Given the description of an element on the screen output the (x, y) to click on. 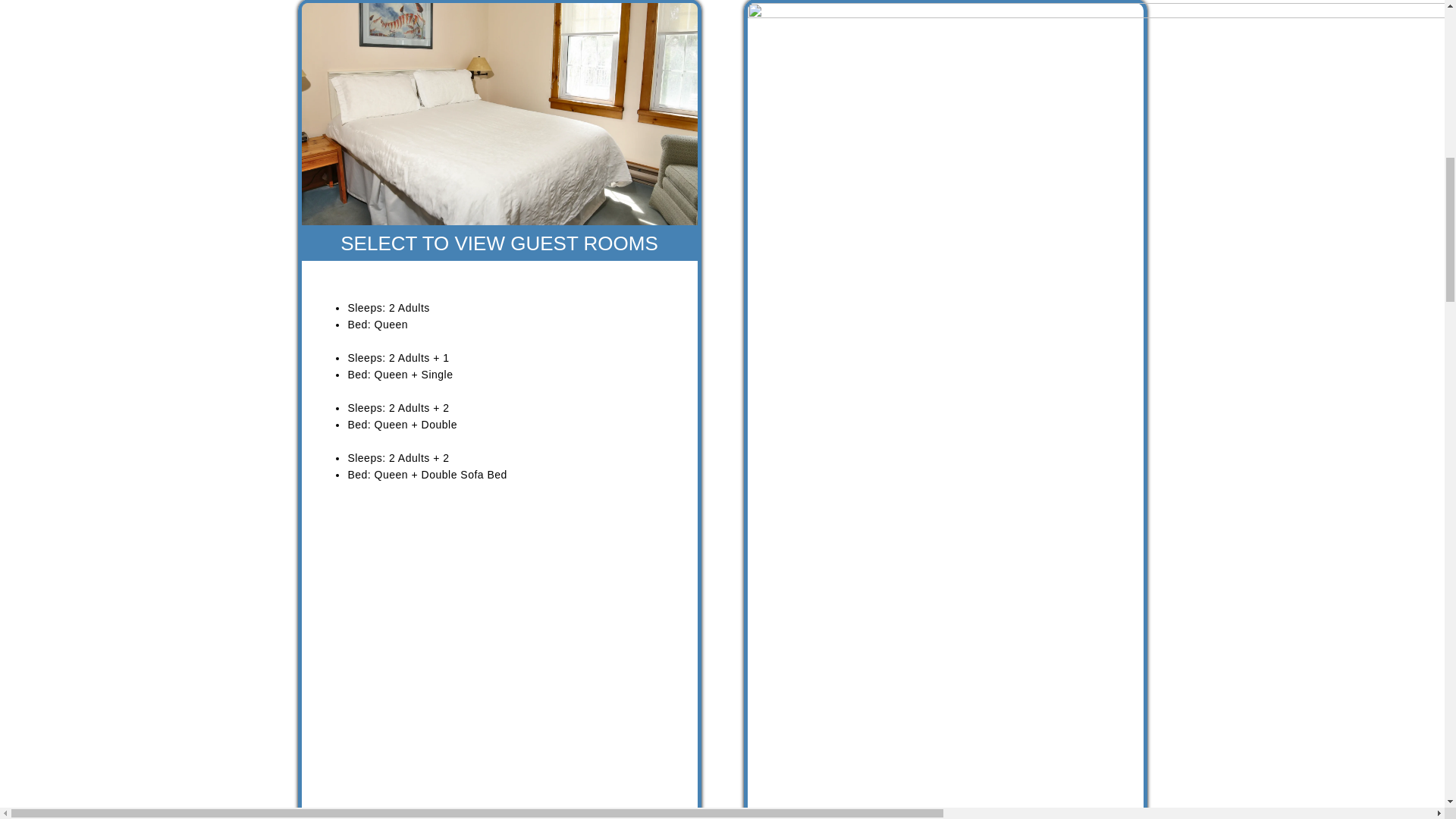
SELECT TO VIEW GUEST ROOMS (499, 242)
